Given the description of an element on the screen output the (x, y) to click on. 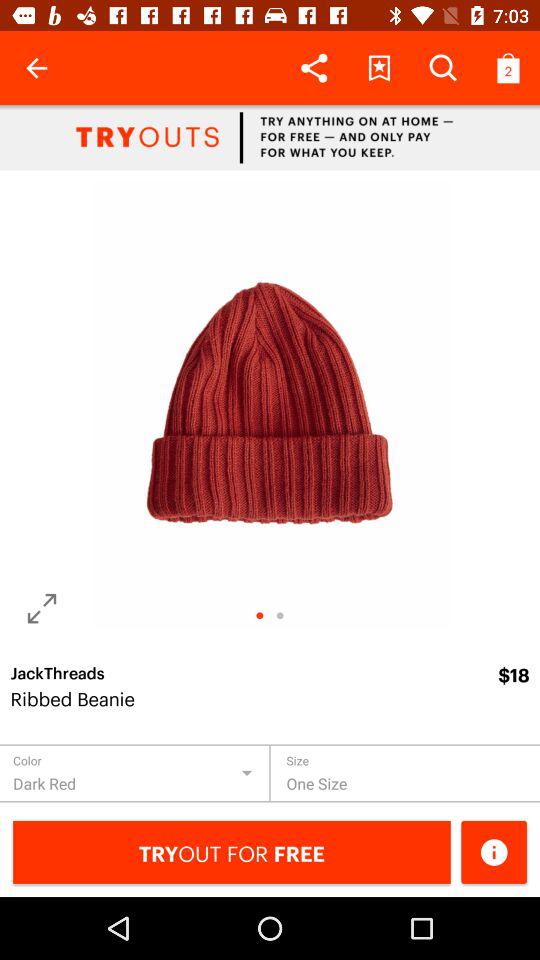
zoom button (42, 608)
